Given the description of an element on the screen output the (x, y) to click on. 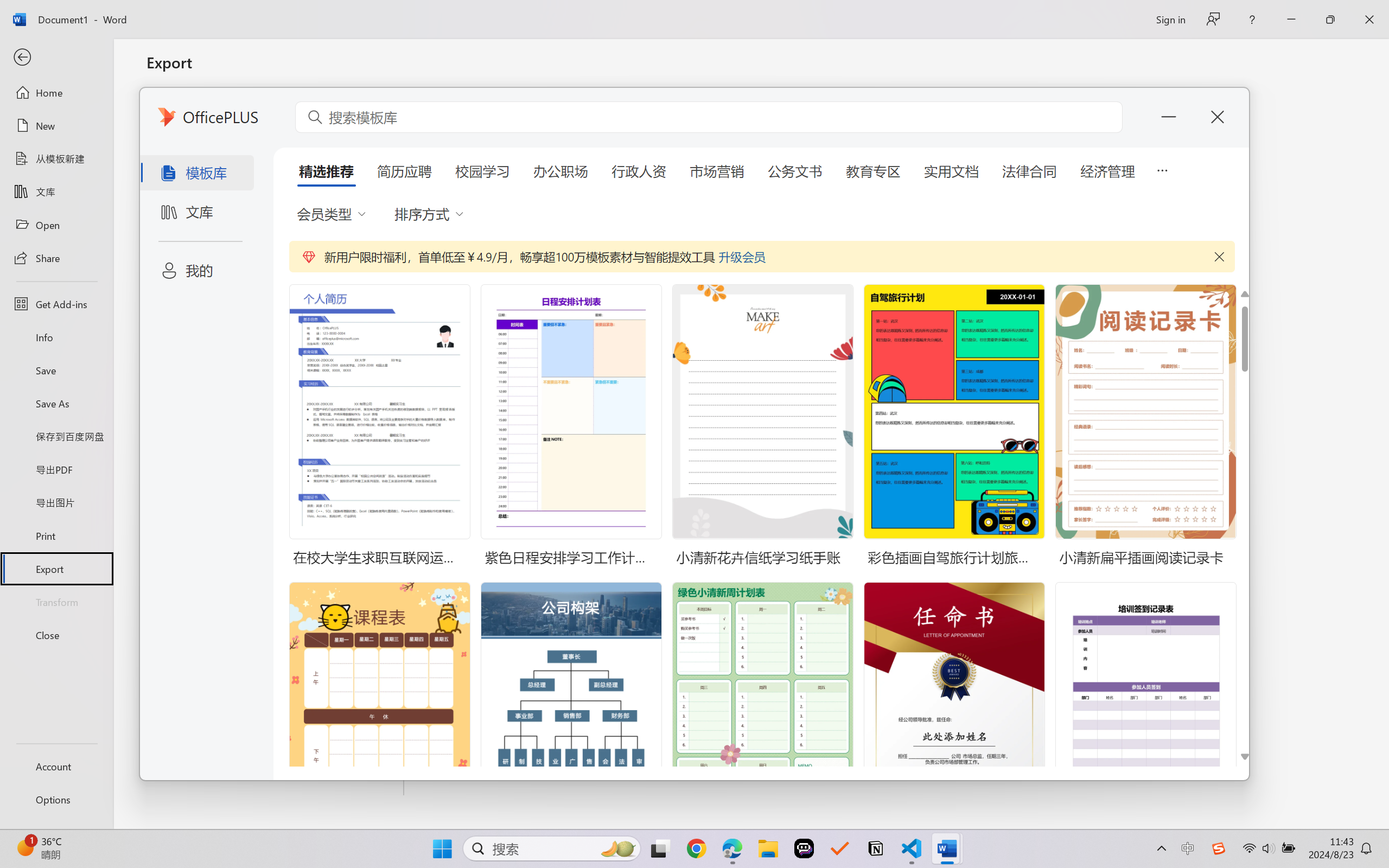
Change File Type (275, 158)
